Given the description of an element on the screen output the (x, y) to click on. 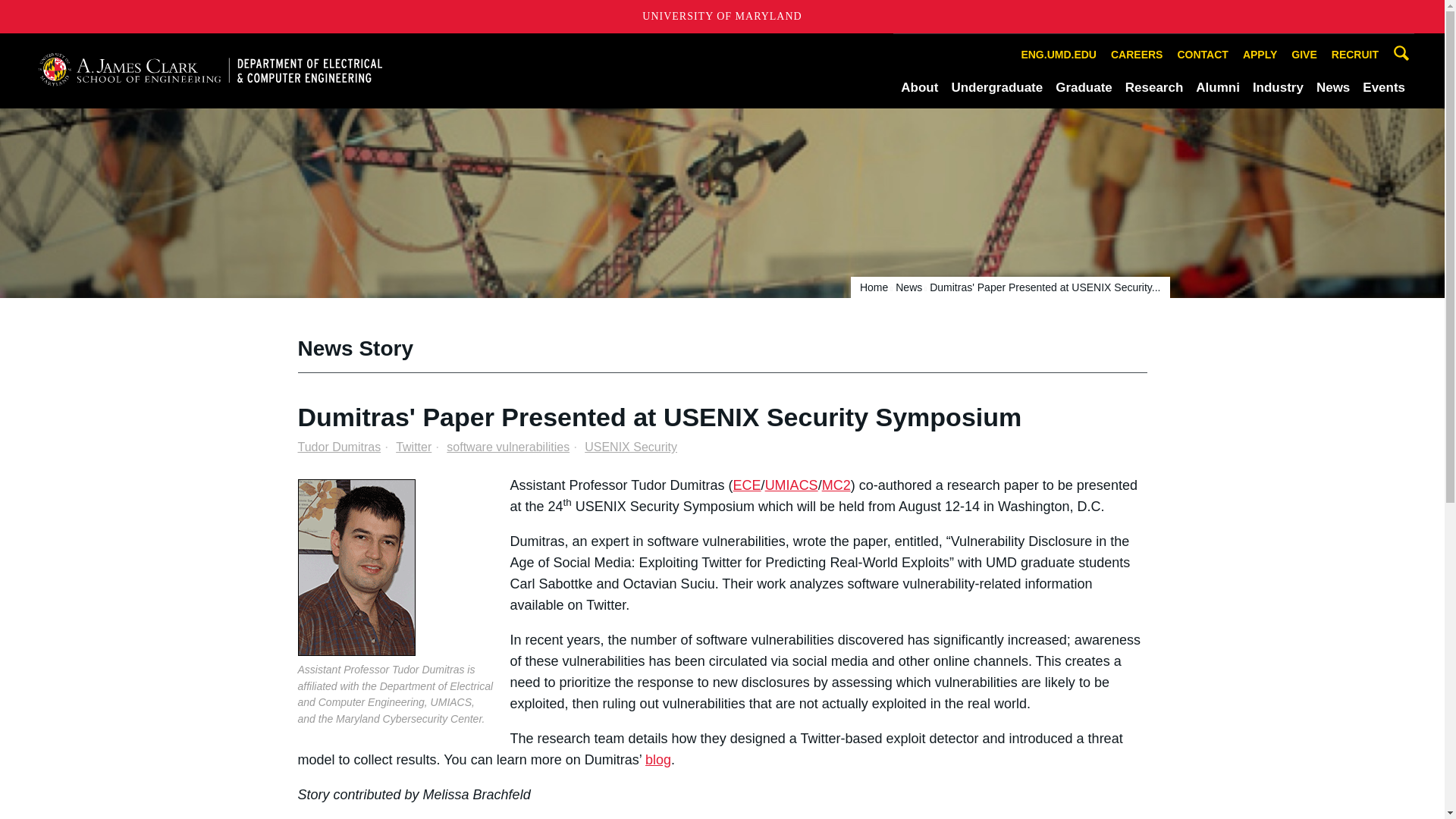
GIVE (1303, 54)
CAREERS (1136, 54)
CONTACT (1202, 54)
Undergraduate (996, 87)
APPLY (1259, 54)
A. James Clark School of Engineering, University of Maryland (209, 69)
ENG.UMD.EDU (1058, 54)
UNIVERSITY OF MARYLAND (722, 16)
About (919, 87)
RECRUIT (1355, 54)
